Given the description of an element on the screen output the (x, y) to click on. 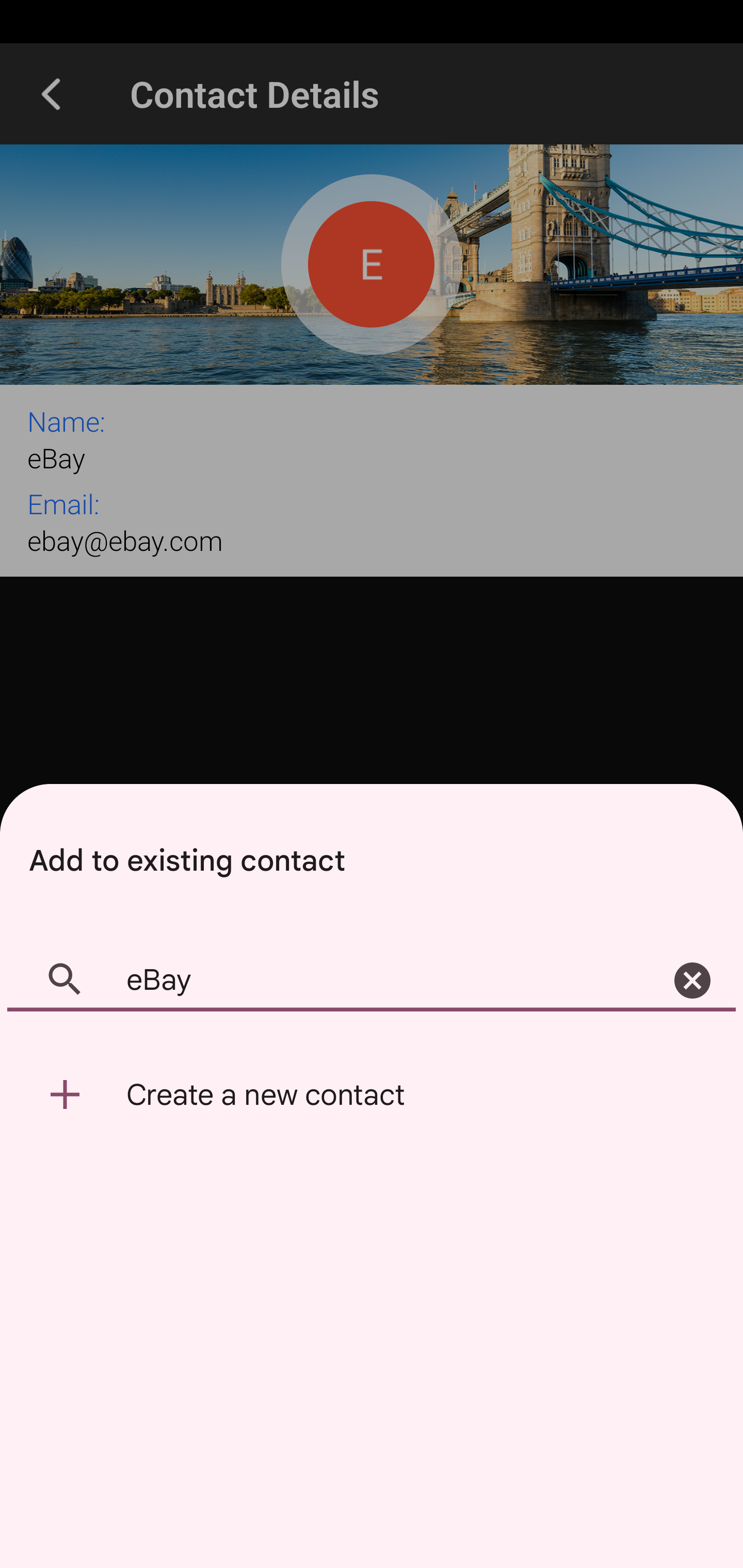
eBay (371, 980)
Clear search (692, 980)
Create a new contact (371, 1094)
